Given the description of an element on the screen output the (x, y) to click on. 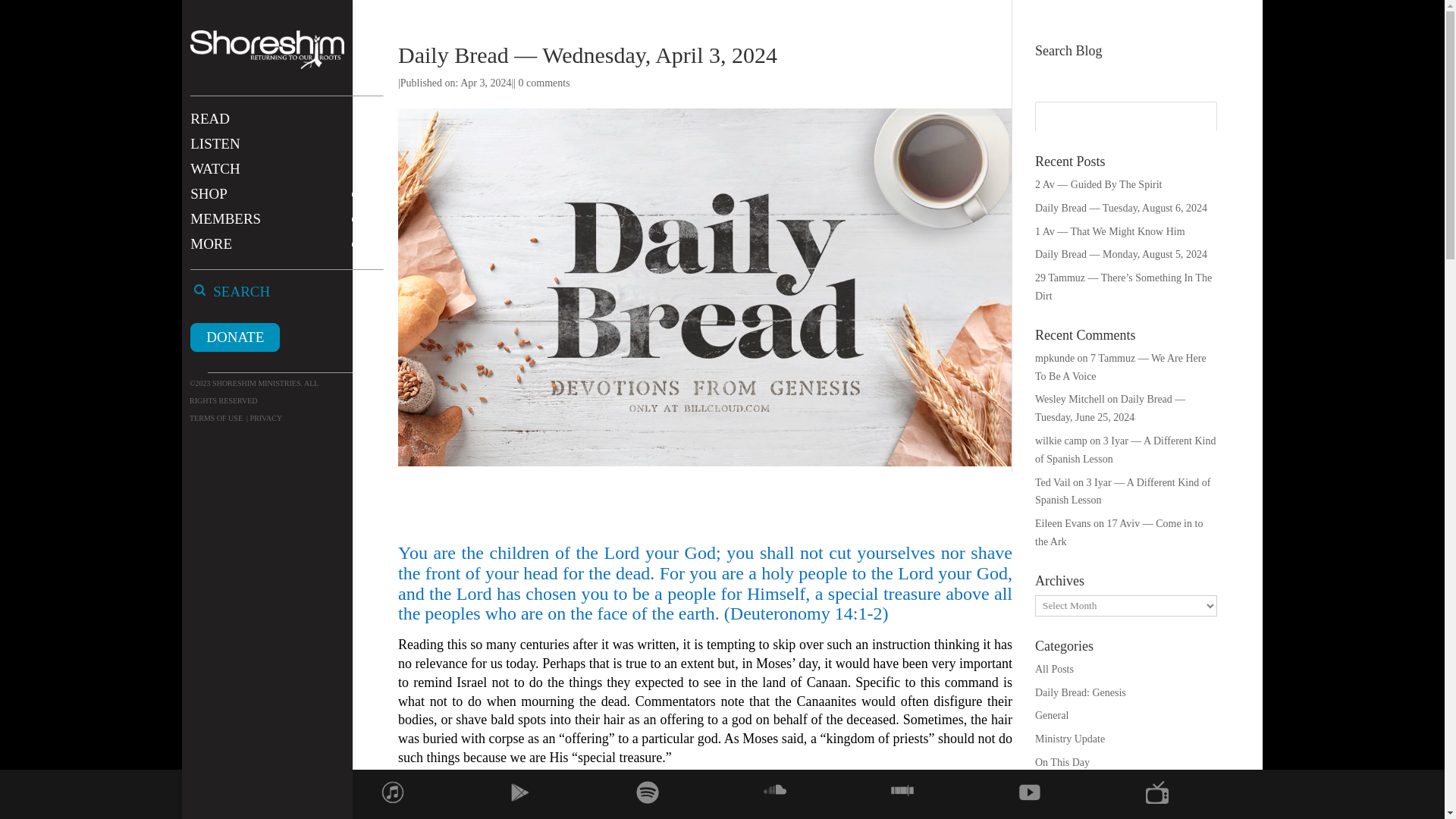
MEMBERS (282, 226)
READ (282, 125)
SEARCH (255, 298)
DONATE (234, 337)
WATCH (282, 176)
LISTEN (282, 150)
TERMS OF USE (216, 418)
MORE (282, 251)
0 comments (544, 82)
SHOP (282, 201)
